Given the description of an element on the screen output the (x, y) to click on. 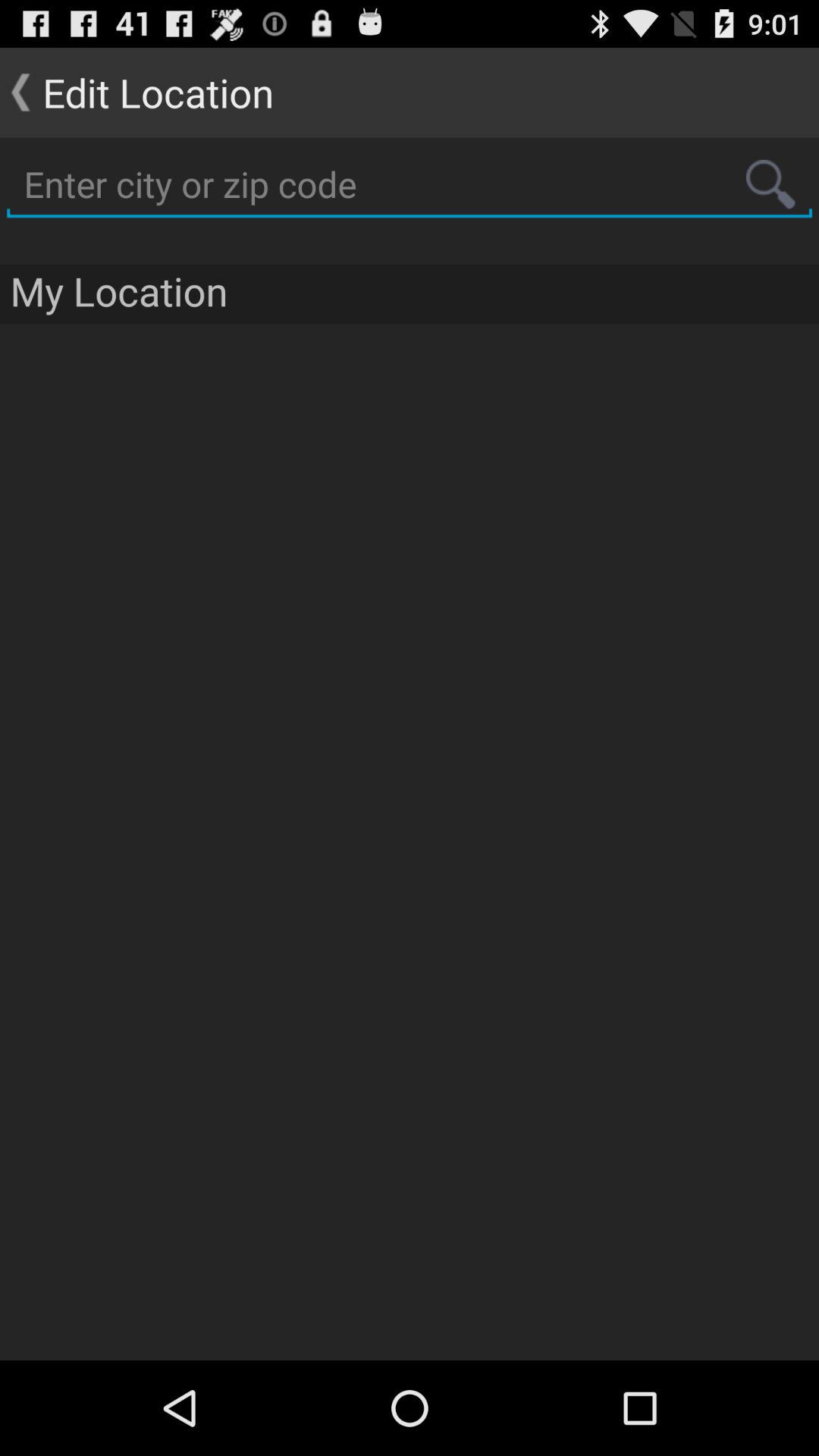
open the edit location item (137, 91)
